Given the description of an element on the screen output the (x, y) to click on. 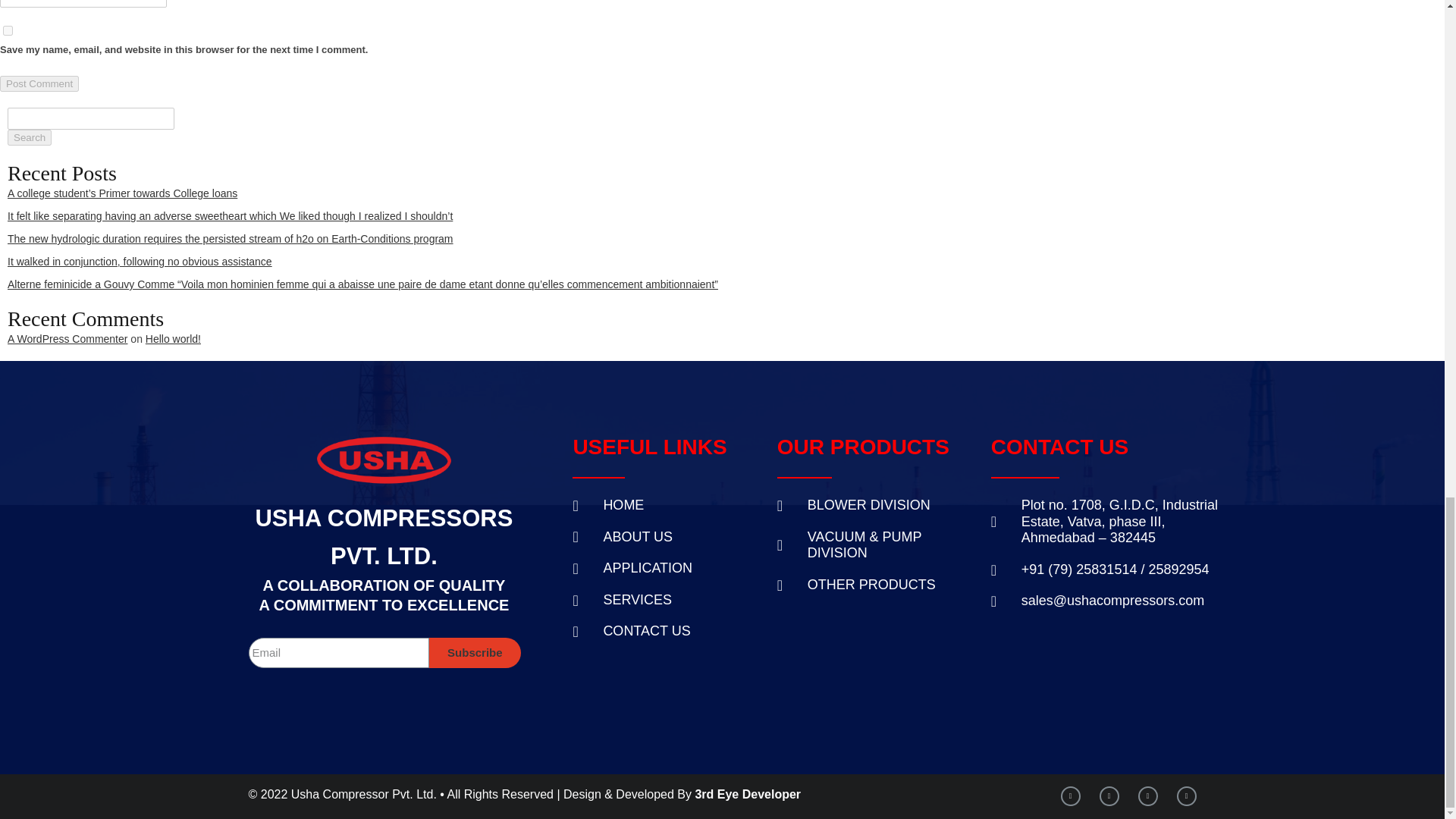
yes (7, 30)
Search (28, 137)
Post Comment (39, 83)
